Given the description of an element on the screen output the (x, y) to click on. 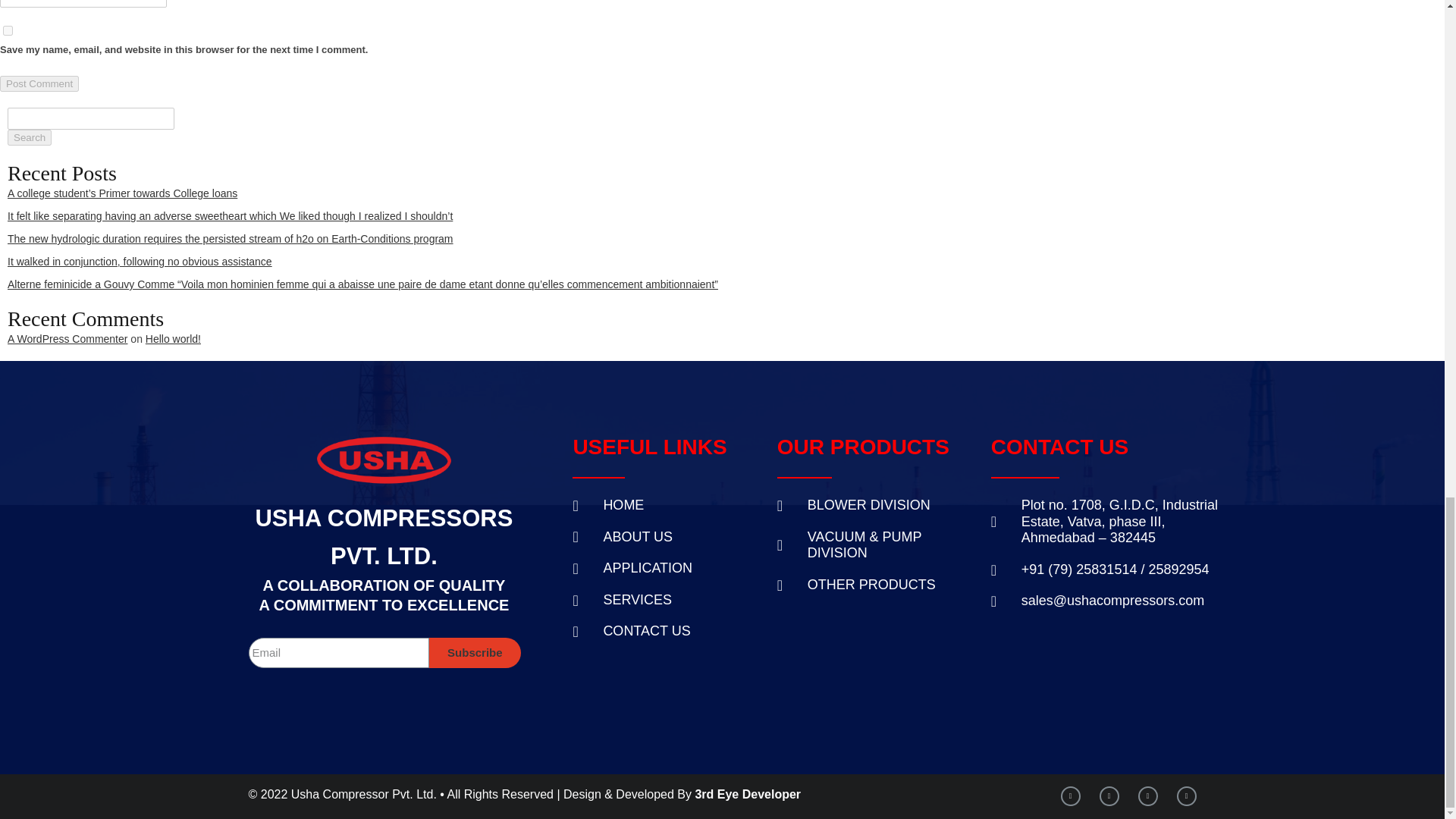
yes (7, 30)
Search (28, 137)
Post Comment (39, 83)
